Given the description of an element on the screen output the (x, y) to click on. 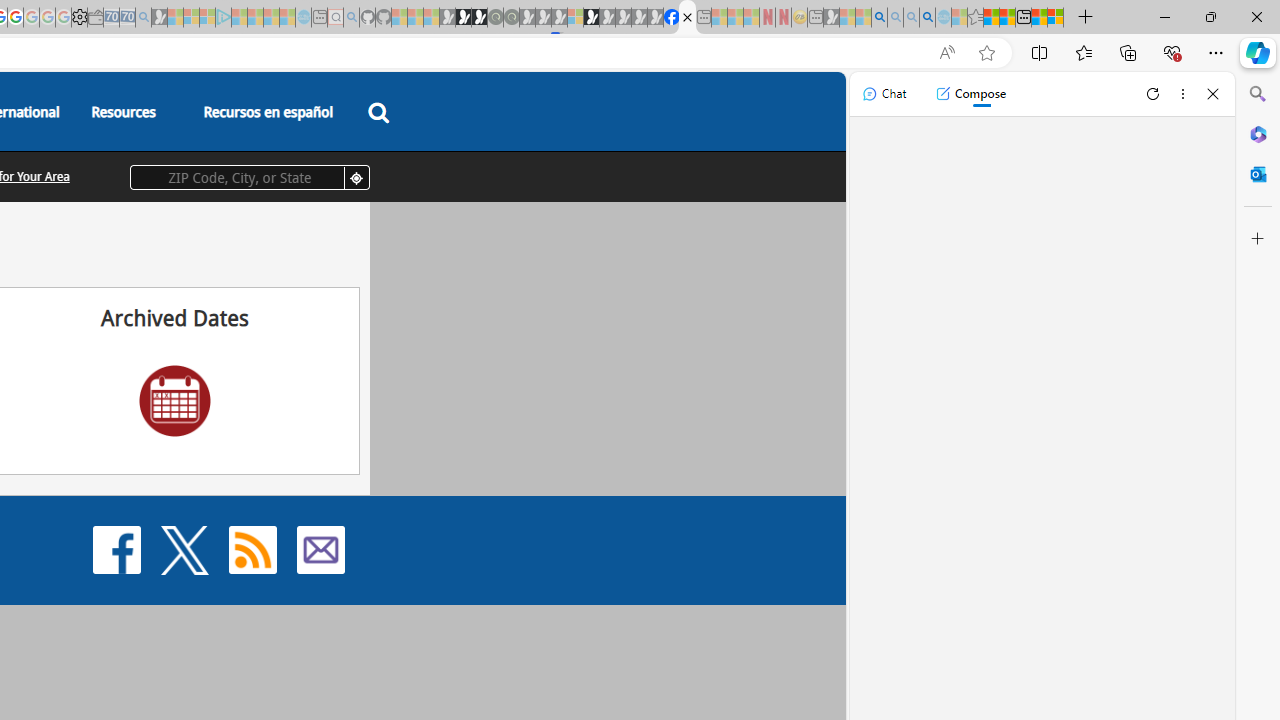
Maps and Data | AirNow.gov (687, 17)
Contact Us  (320, 548)
X (184, 549)
